Given the description of an element on the screen output the (x, y) to click on. 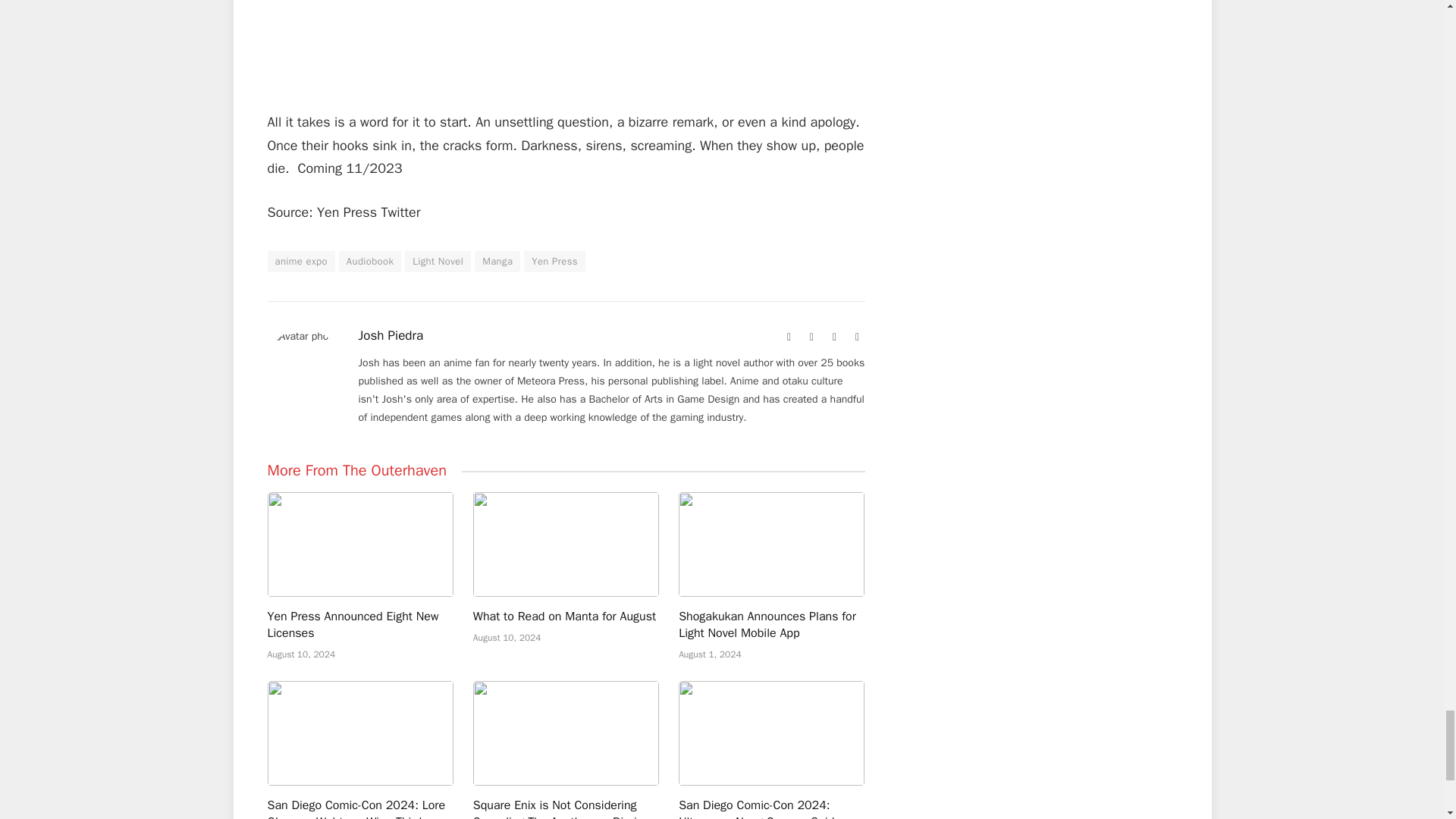
Posts by Josh Piedra (390, 335)
Website (788, 337)
Shogakukan Announces Plans for Light Novel Mobile App (771, 544)
What to Read on Manta for August (566, 544)
Instagram (856, 337)
Yen Press Announced Eight New Licenses (359, 544)
Facebook (810, 337)
